Given the description of an element on the screen output the (x, y) to click on. 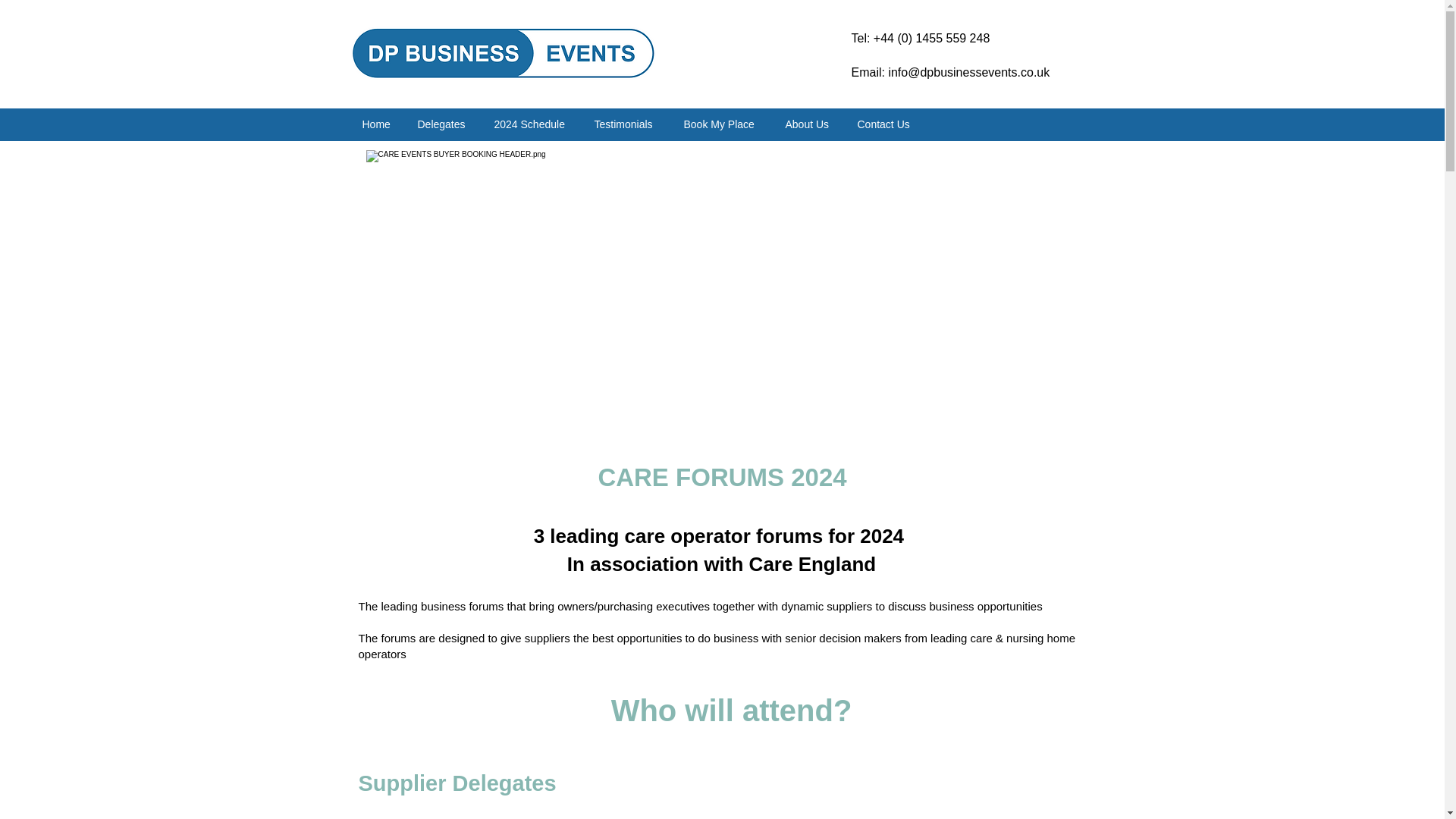
Testimonials (626, 124)
Delegates (444, 124)
About Us (809, 124)
2024 Schedule (531, 124)
Home (378, 124)
Contact Us (886, 124)
